Given the description of an element on the screen output the (x, y) to click on. 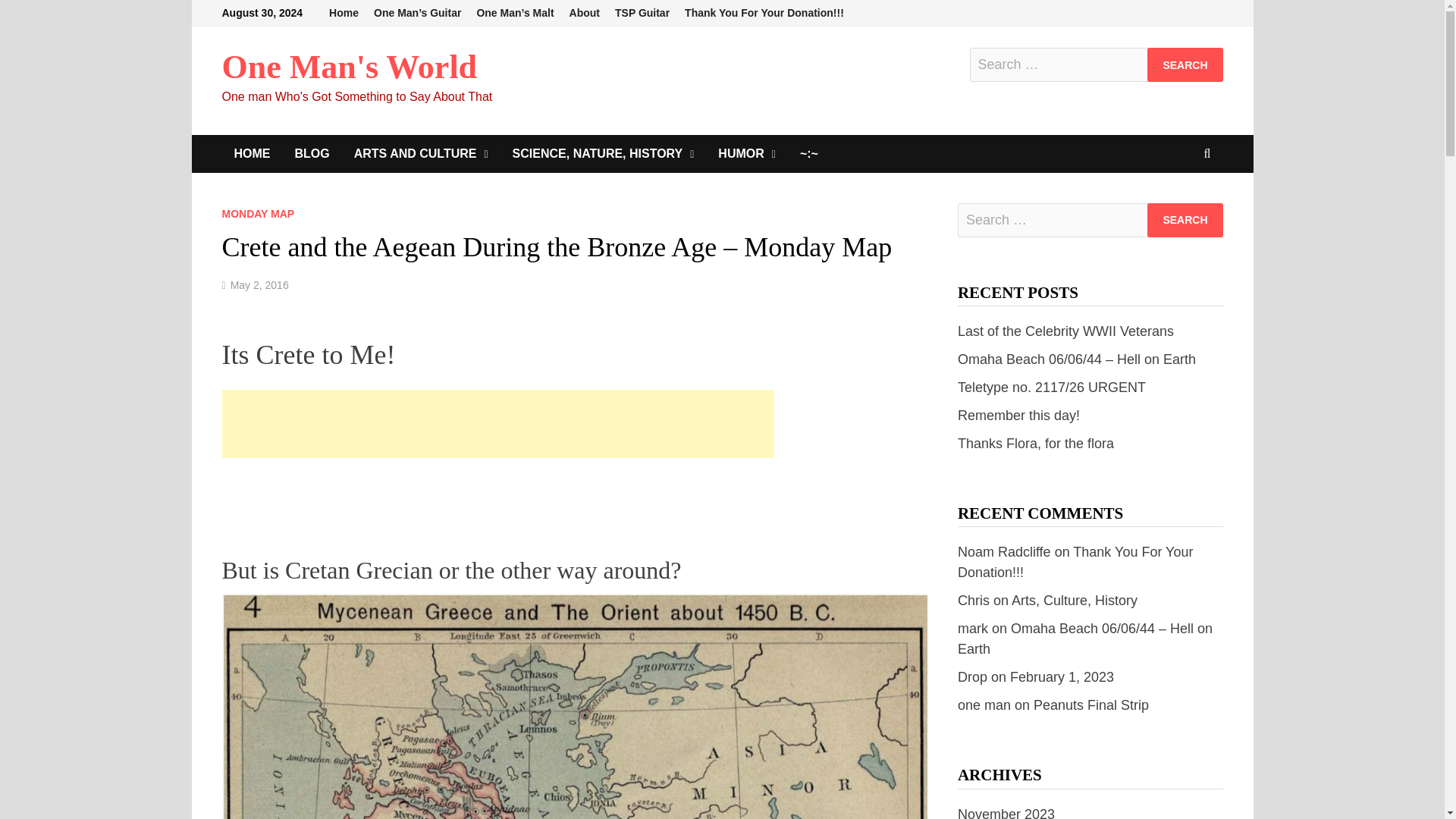
HUMOR (746, 153)
TSP Guitar (642, 13)
Search (1185, 220)
Home (343, 13)
BLOG (311, 153)
Thank You For Your Donation!!! (764, 13)
Search (1185, 220)
One Man's World (349, 66)
Reviews and Articles (421, 153)
ARTS AND CULTURE (421, 153)
